Given the description of an element on the screen output the (x, y) to click on. 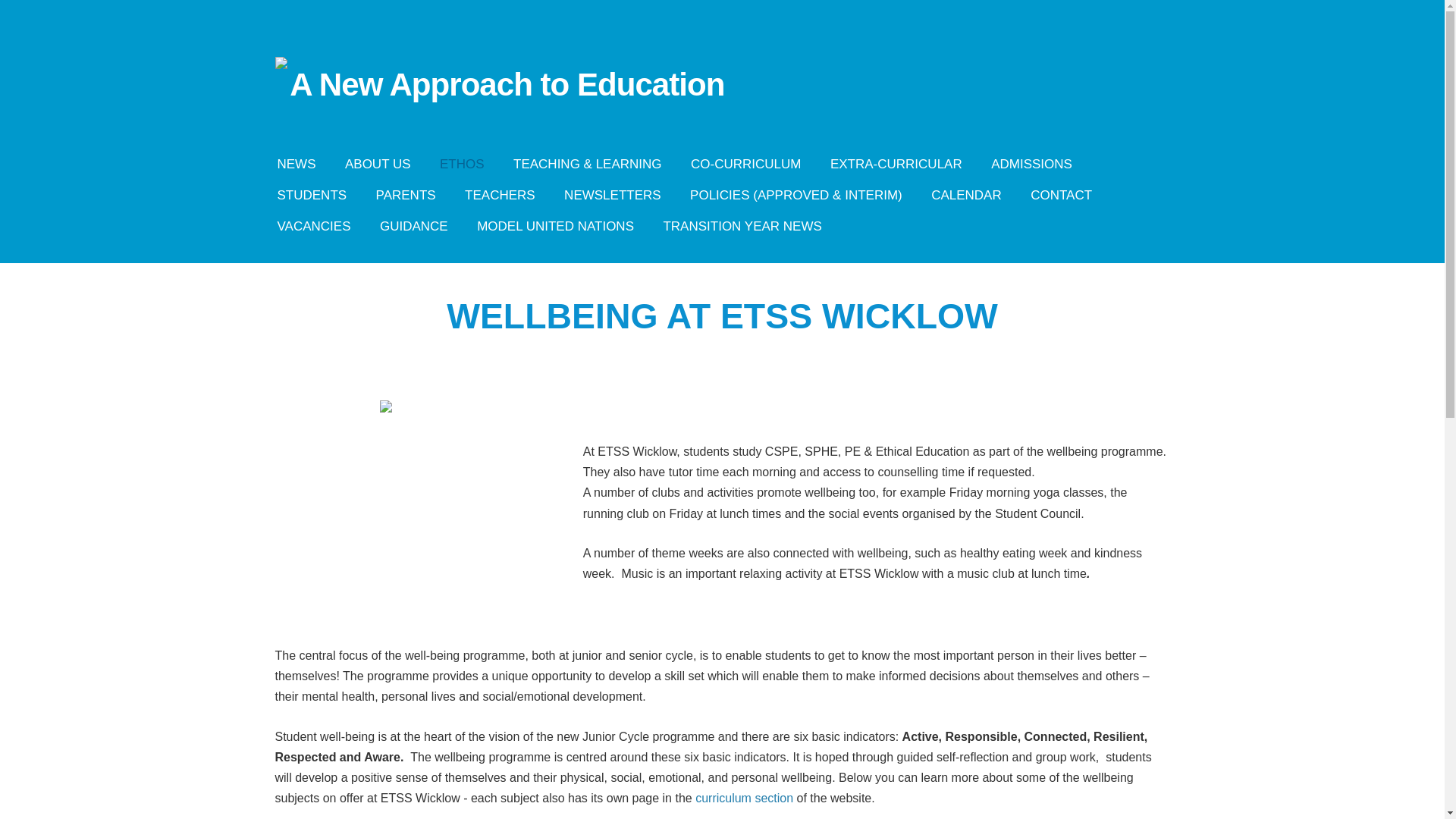
NEWS (296, 163)
ETHOS (462, 163)
ABOUT US (378, 163)
